Given the description of an element on the screen output the (x, y) to click on. 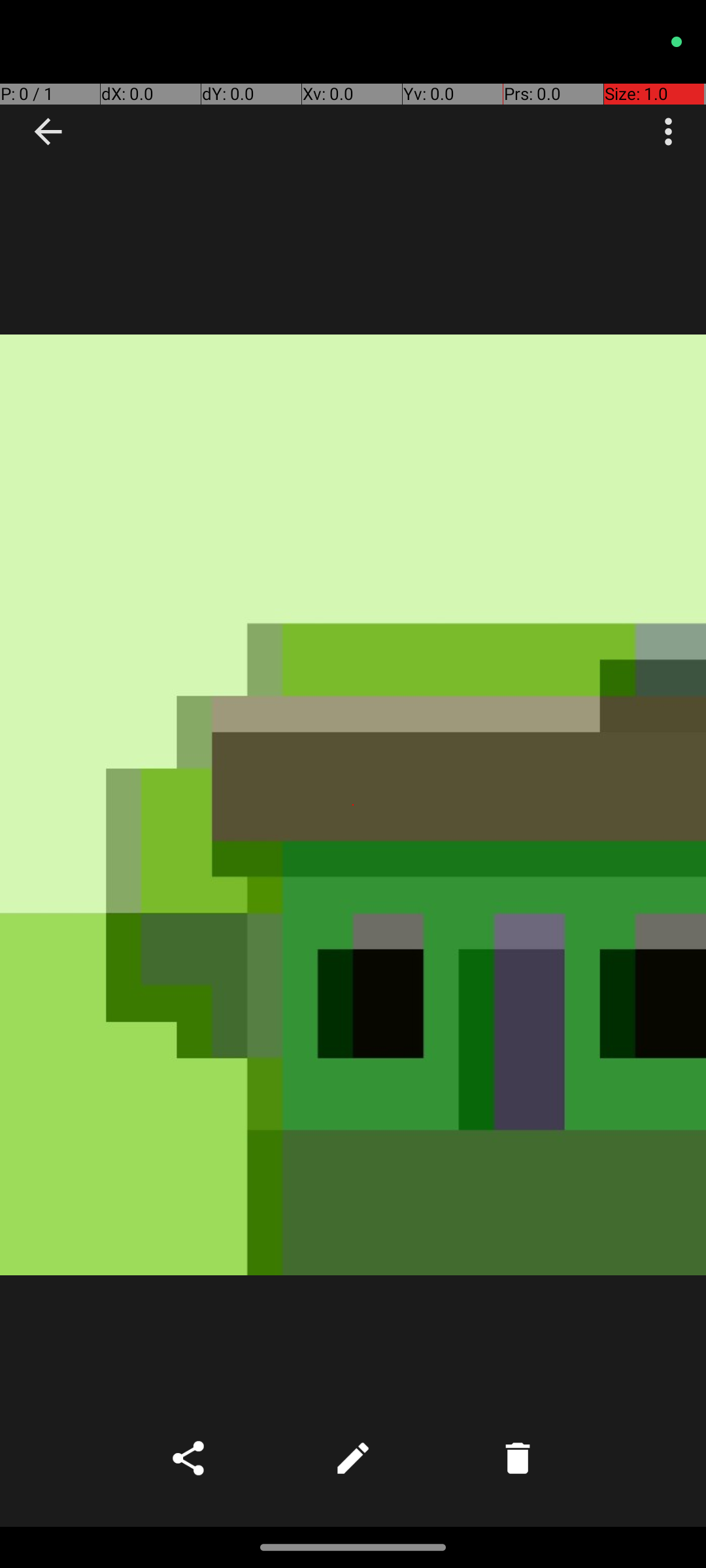
Photo taken on Oct 15, 2023 15:34:19 Element type: android.widget.ImageView (353, 804)
